Given the description of an element on the screen output the (x, y) to click on. 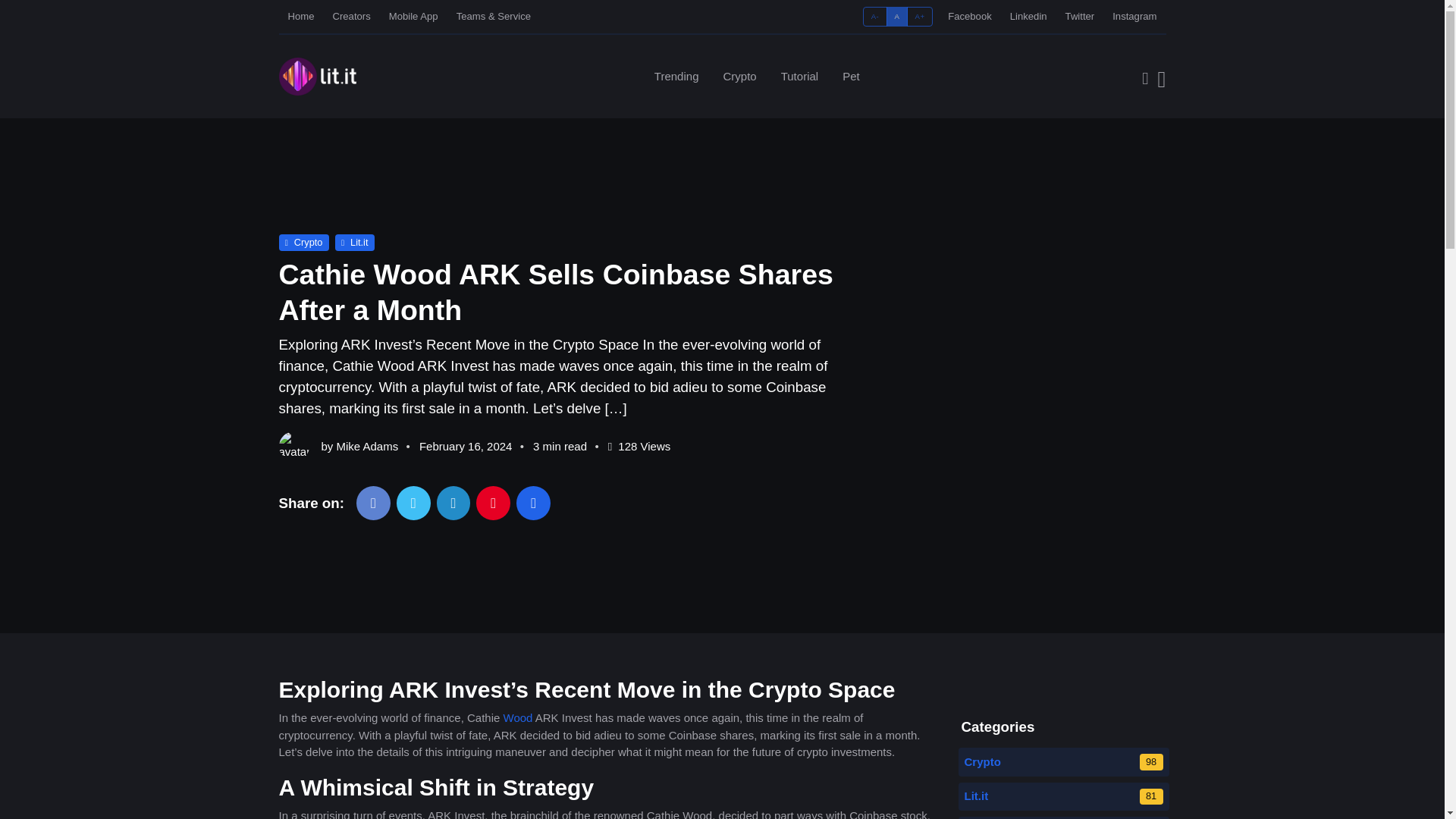
Twitter (1080, 16)
on (868, 11)
Trending (676, 76)
Home (301, 16)
Facebook (970, 16)
Lit.it Blog (317, 76)
Crypto (751, 76)
Trending (304, 242)
Creators (676, 76)
